Given the description of an element on the screen output the (x, y) to click on. 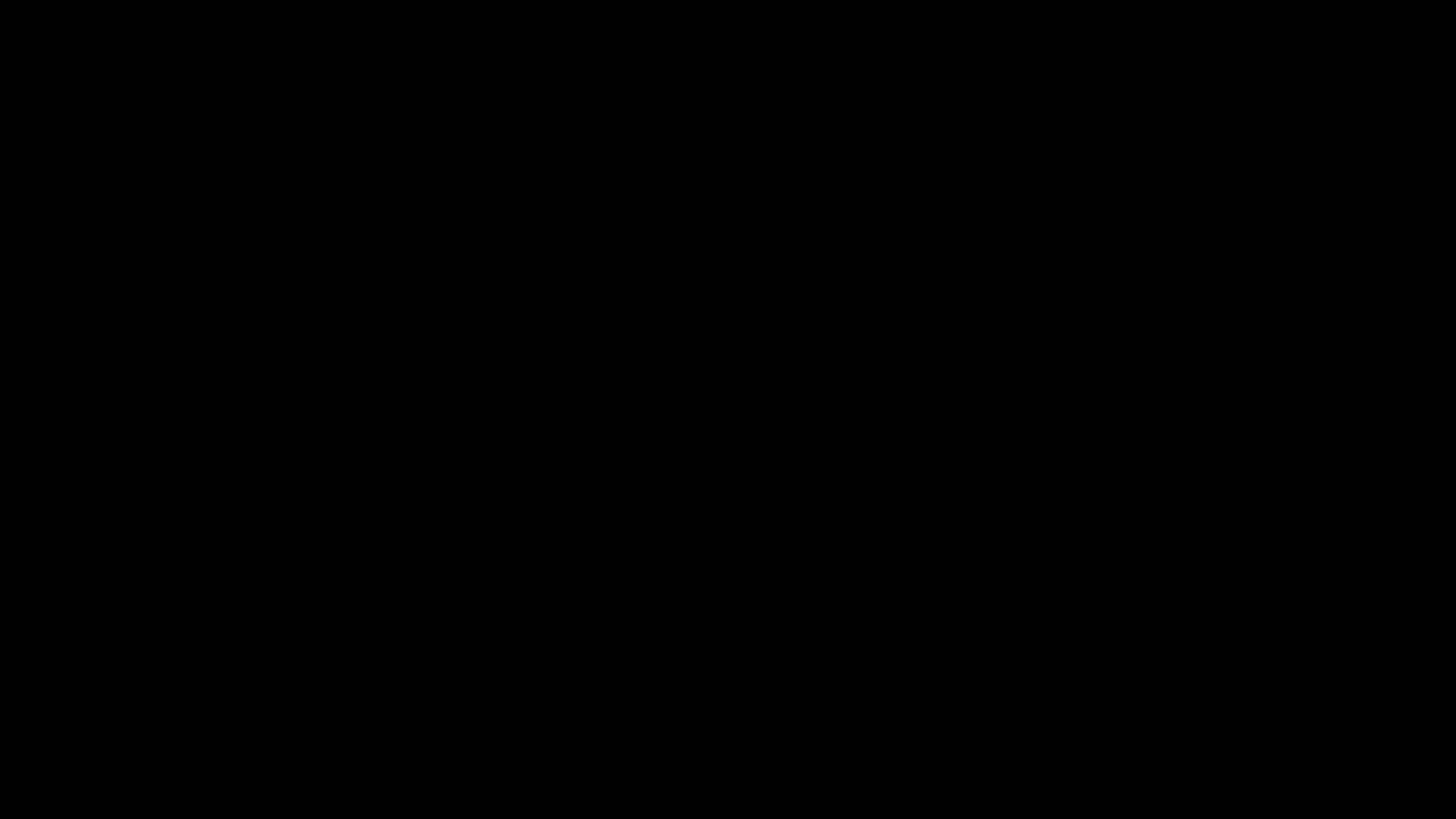
Text Size (1386, 790)
View (77, 8)
Print Layout (1312, 790)
Increase Text Size (1420, 790)
Page Number Screens 2-3 of 3  (29, 790)
Tools (46, 8)
File Tab (15, 8)
Page left (243, 778)
Web Layout (1335, 790)
